Given the description of an element on the screen output the (x, y) to click on. 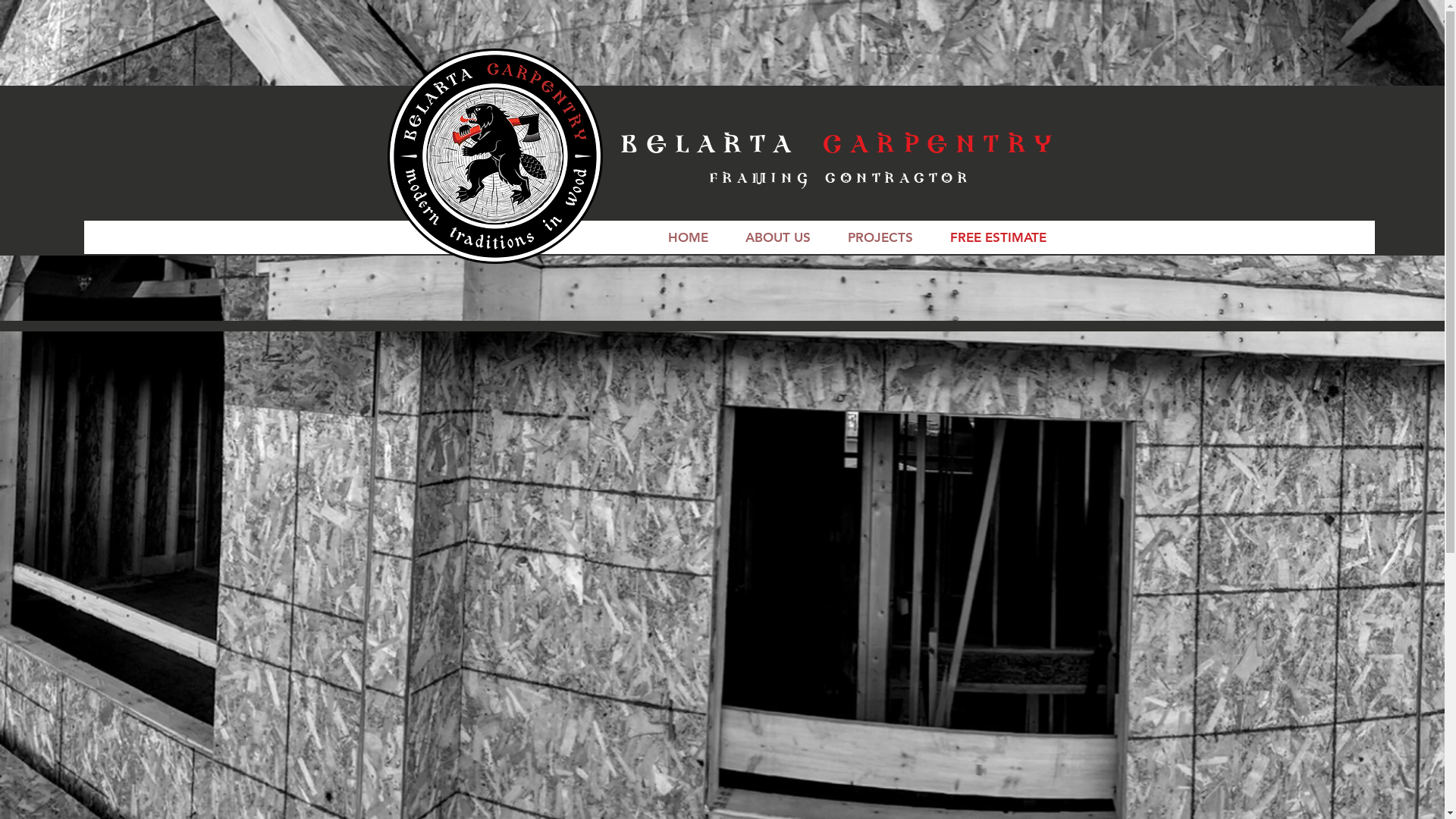
PROJECTS Element type: text (880, 237)
Get Files to Dropbox Element type: hover (719, 620)
HOME Element type: text (687, 237)
FREE ESTIMATE Element type: text (997, 237)
BELARTA CARPENTRY Element type: text (840, 147)
Belarta Logo round.png Element type: hover (494, 155)
ABOUT US Element type: text (777, 237)
